Given the description of an element on the screen output the (x, y) to click on. 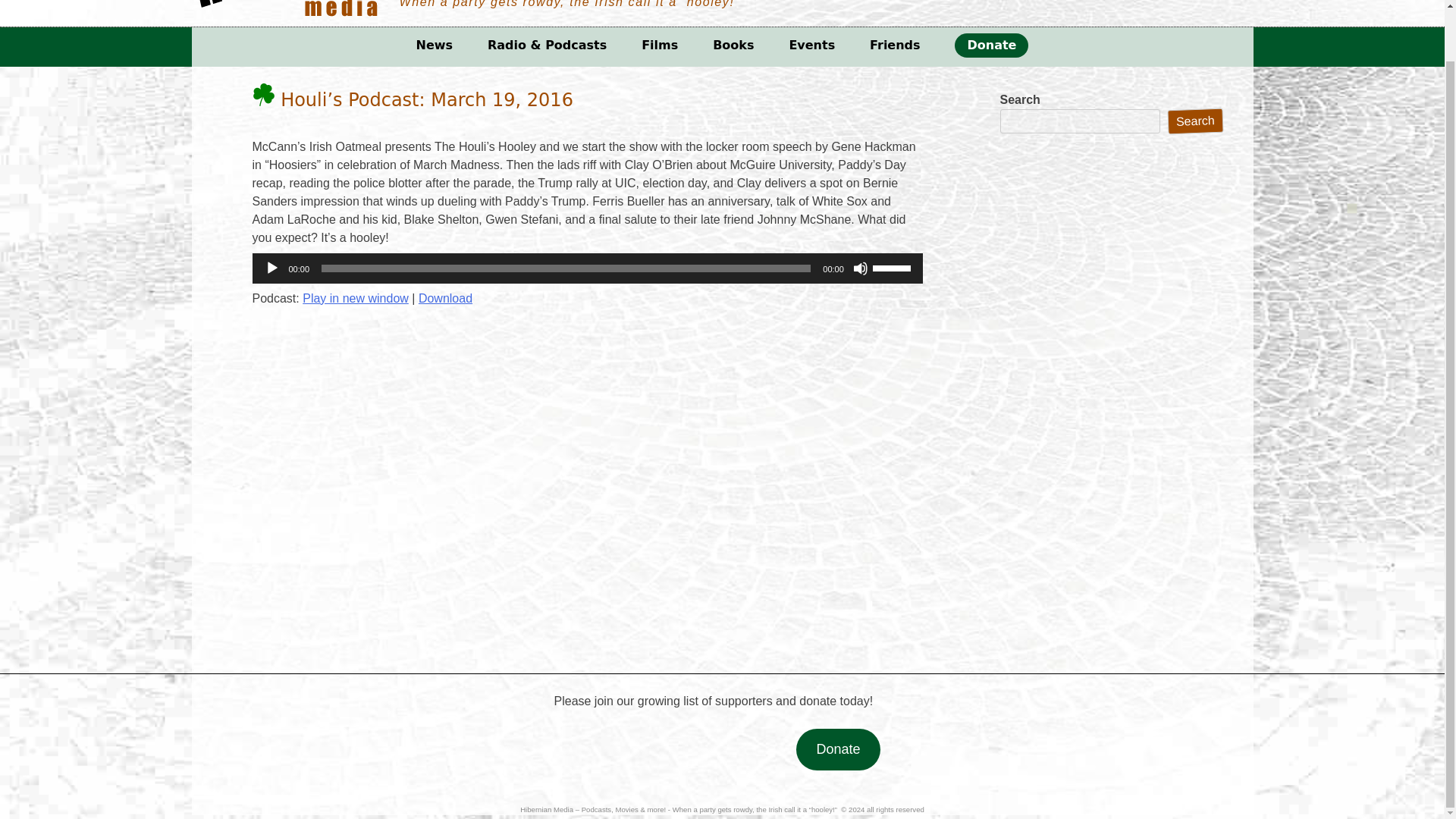
Download (445, 297)
Mute (860, 268)
Play in new window (355, 297)
Events (811, 45)
Donate (991, 45)
News (434, 45)
Books (733, 45)
Play in new window (355, 297)
Friends (894, 45)
Play (271, 268)
